Given the description of an element on the screen output the (x, y) to click on. 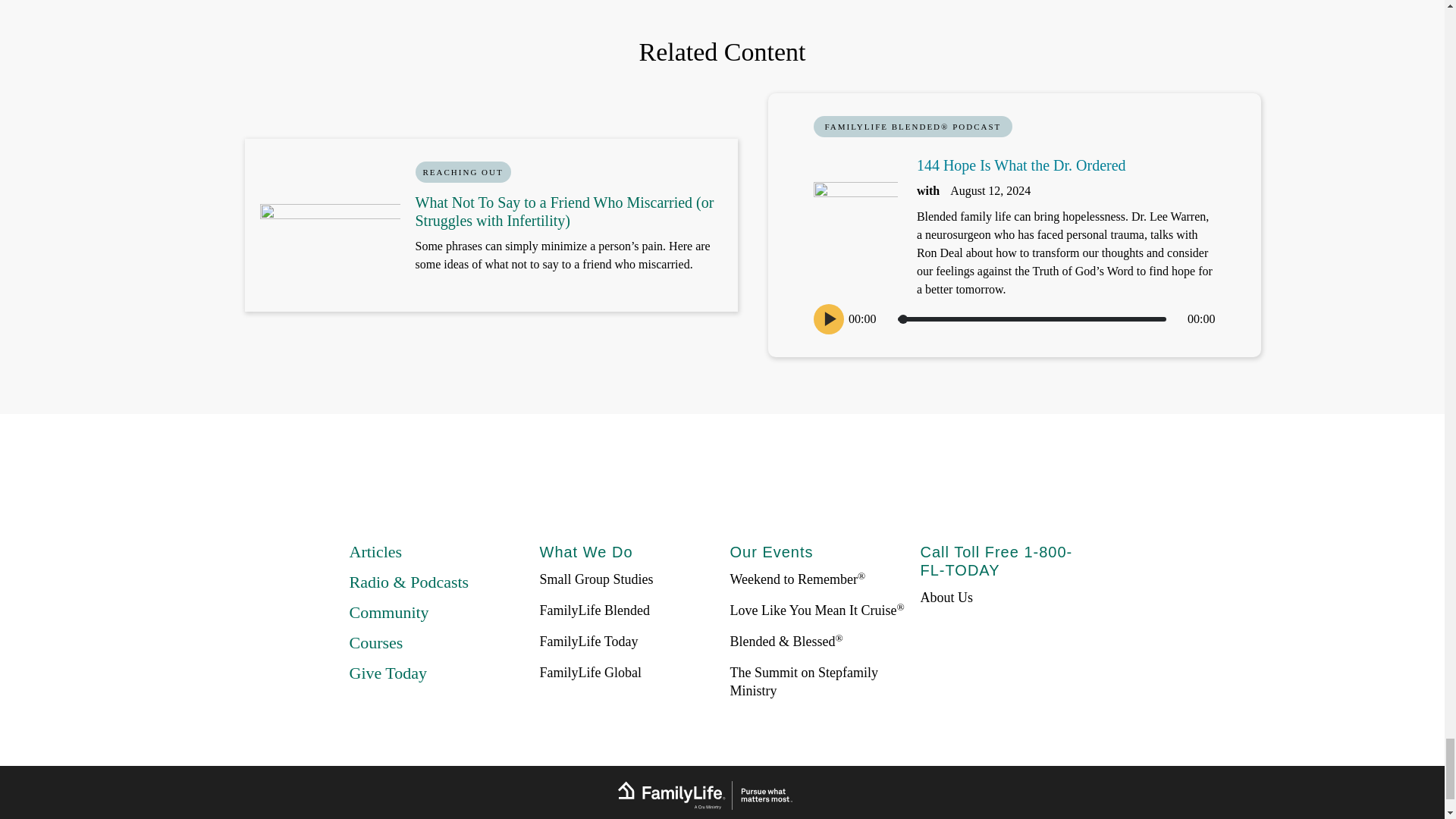
Give Today (387, 672)
REACHING OUT (462, 171)
FamilyLife Blended (594, 610)
0 (1032, 318)
FamilyLife Global (591, 672)
Community (388, 611)
FamilyLife Today (589, 641)
Articles (375, 551)
Small Group Studies (596, 579)
Courses (376, 642)
